Given the description of an element on the screen output the (x, y) to click on. 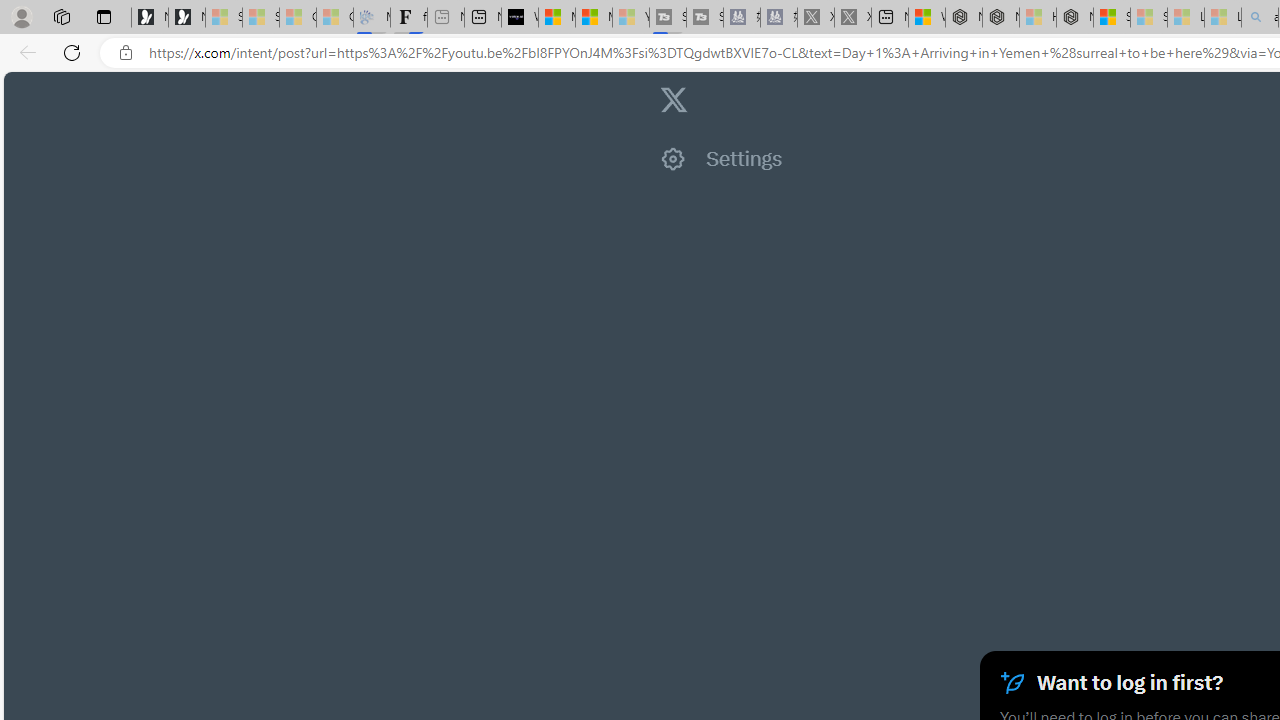
Nordace - Nordace Siena Is Not An Ordinary Backpack (1075, 17)
